Given the description of an element on the screen output the (x, y) to click on. 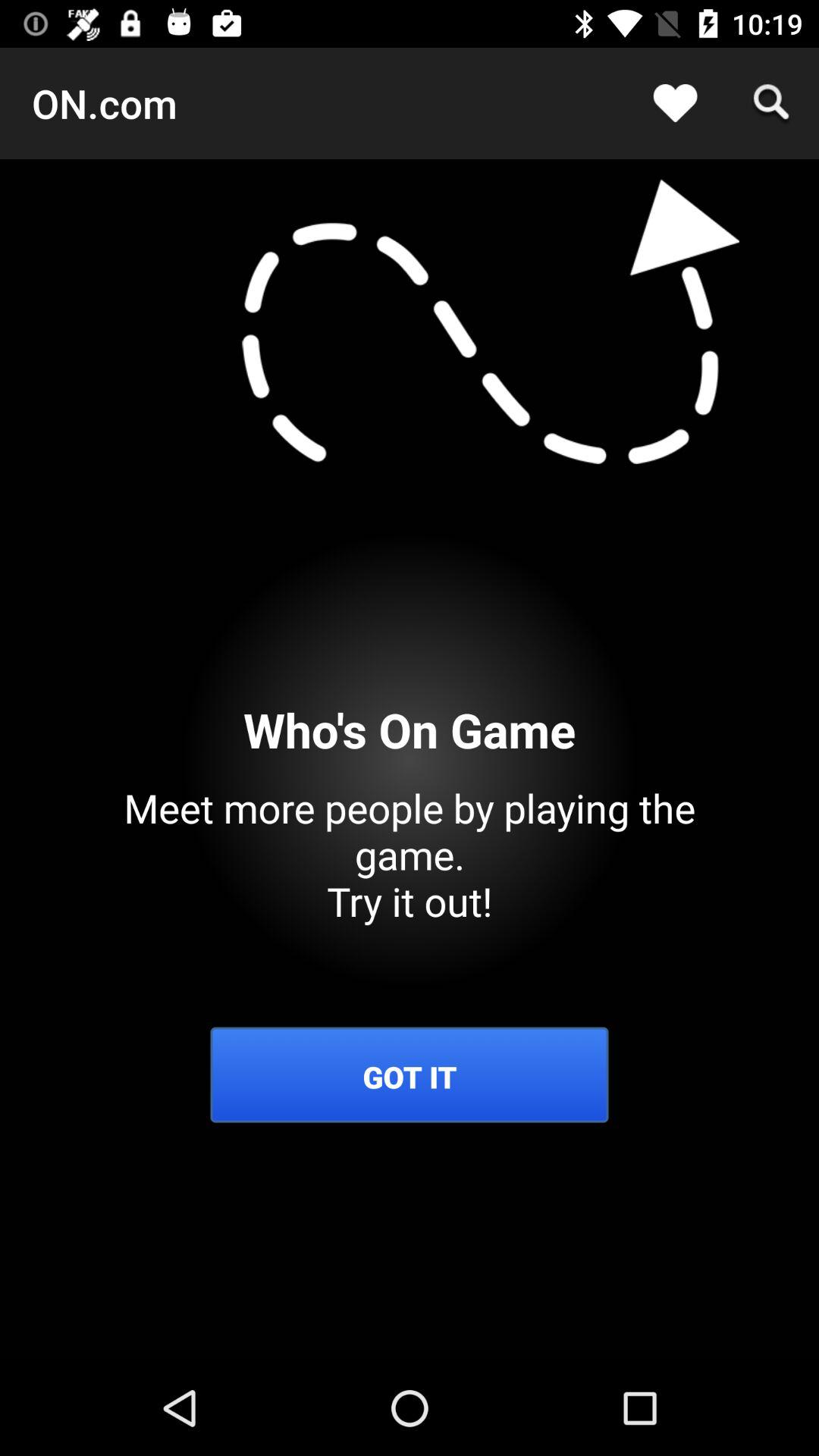
press the app to the right of the on.com app (675, 103)
